Given the description of an element on the screen output the (x, y) to click on. 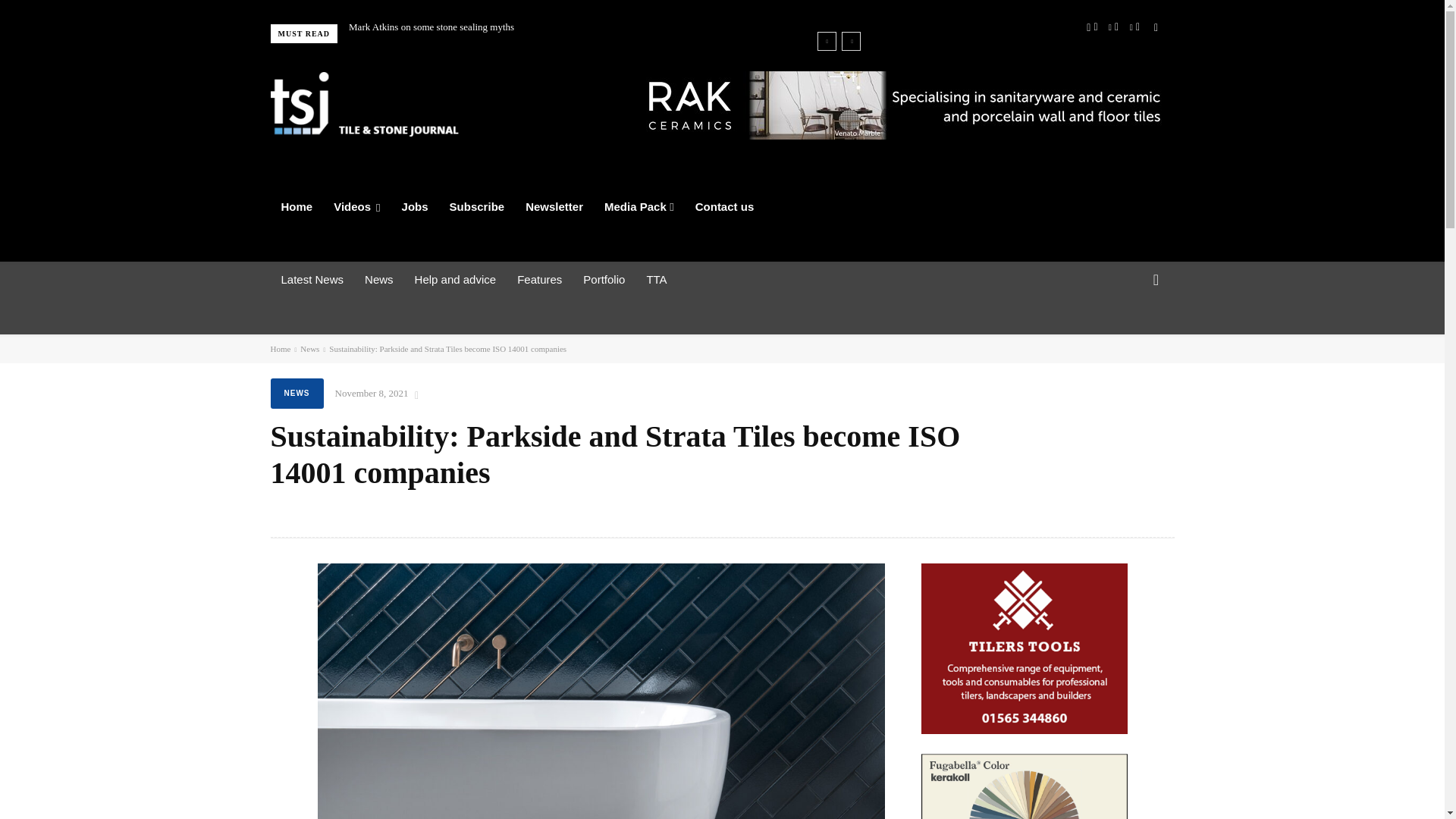
Mark Atkins on some stone sealing myths (431, 26)
Linkedin (1113, 26)
Twitter (1134, 26)
Tile and Stone Journal (363, 104)
Facebook (1091, 26)
Mark Atkins on some stone sealing myths (431, 26)
Home (296, 207)
Youtube (1155, 26)
